Given the description of an element on the screen output the (x, y) to click on. 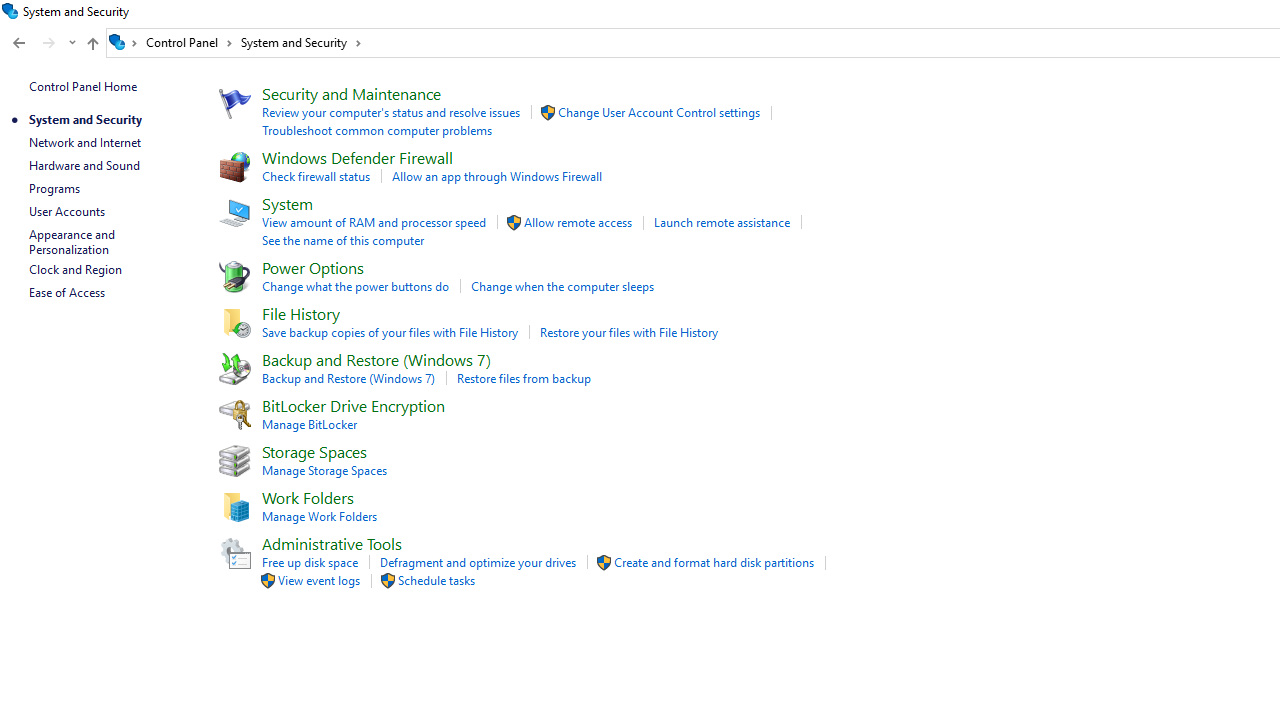
Defragment and optimize your drives (477, 562)
View event logs (319, 580)
Network and Internet (84, 142)
Icon (387, 580)
Backup and Restore (Windows 7) (347, 377)
Restore your files with File History (628, 331)
Storage Spaces (313, 451)
Save backup copies of your files with File History (389, 331)
Ease of Access (66, 292)
Control Panel (189, 42)
Power Options (312, 267)
System (286, 202)
User Accounts (66, 210)
File History (300, 313)
Administrative Tools (331, 542)
